Given the description of an element on the screen output the (x, y) to click on. 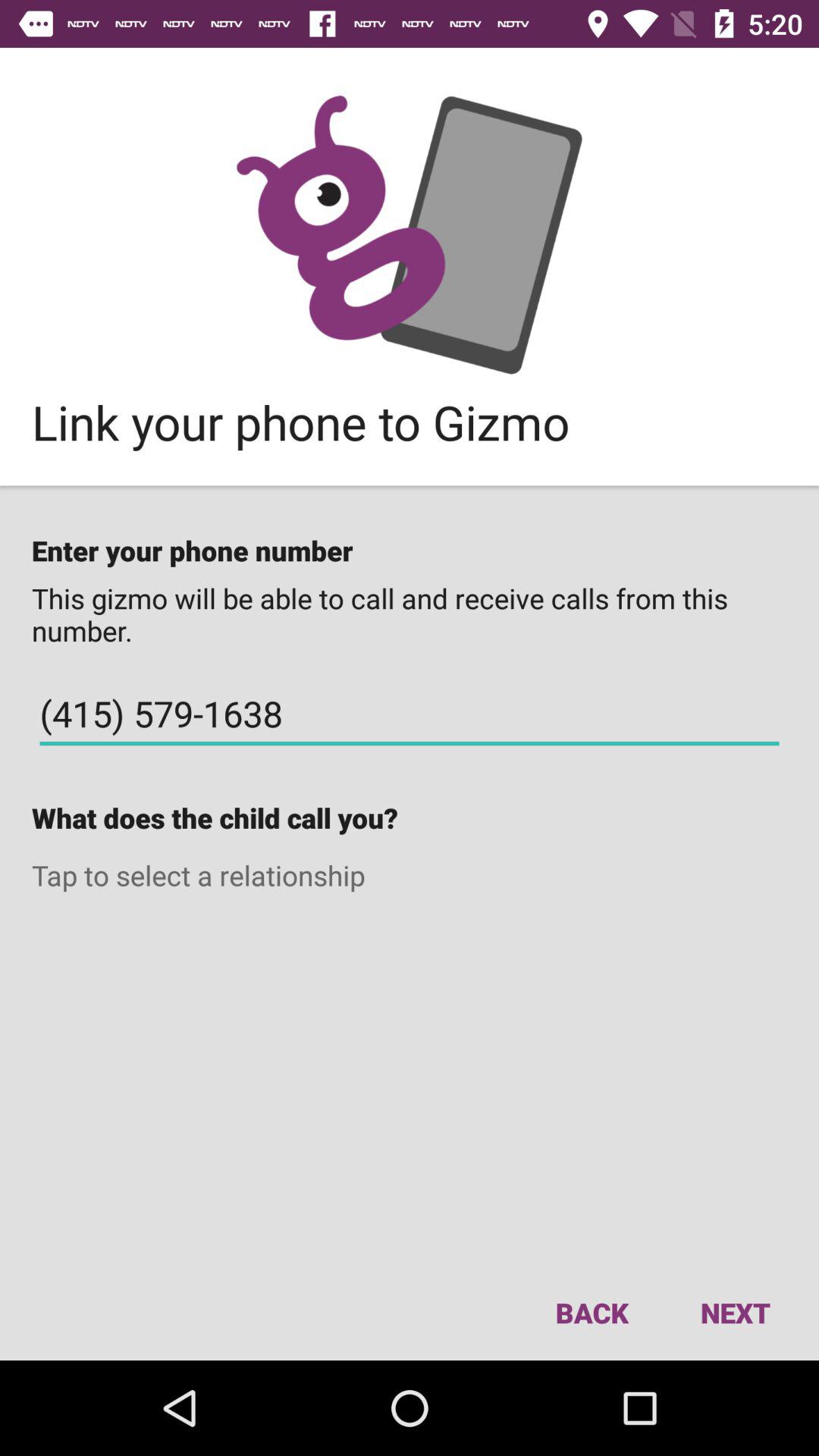
select the icon below this gizmo will (409, 714)
